Given the description of an element on the screen output the (x, y) to click on. 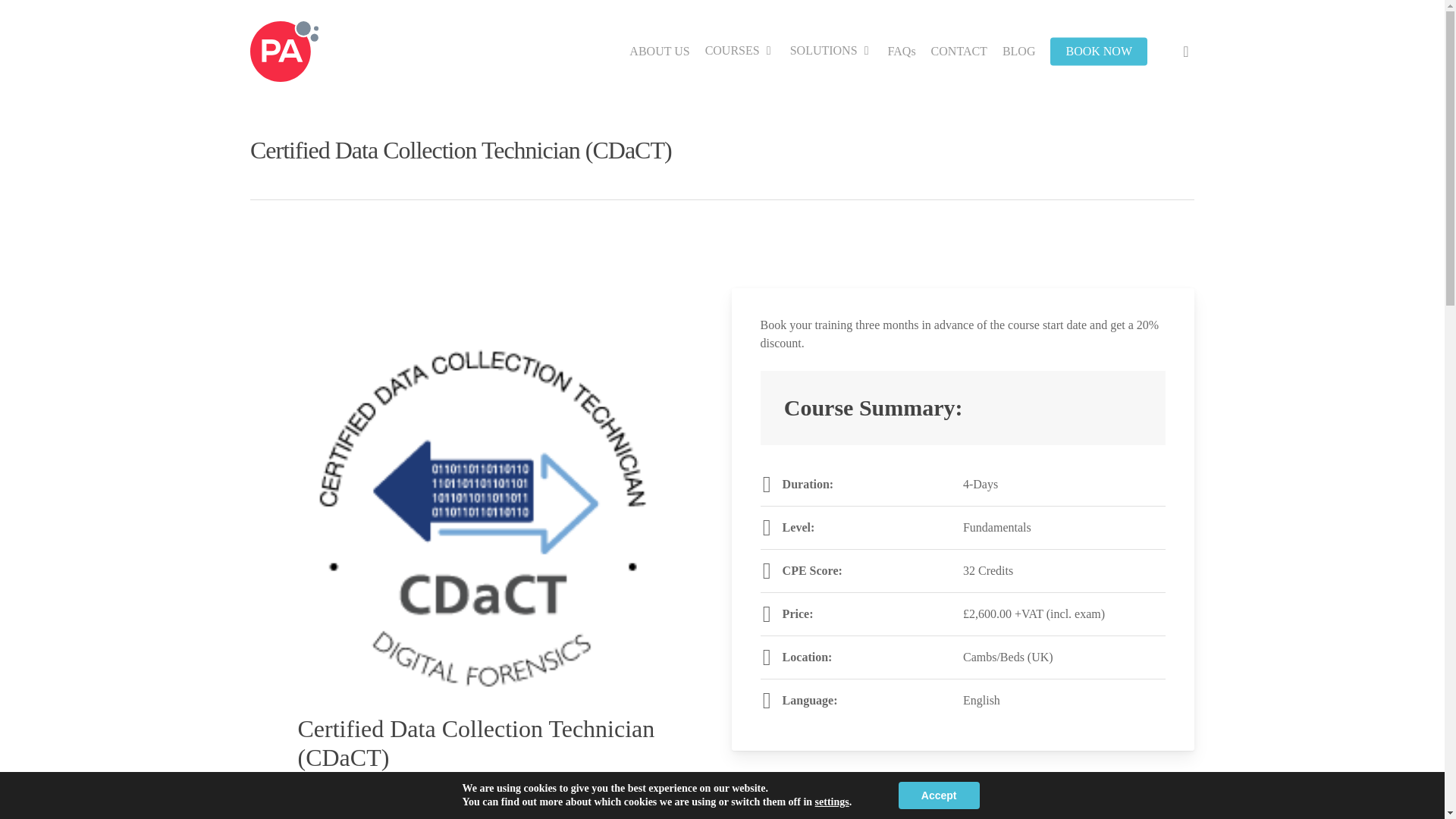
BLOG (1018, 51)
BOOK NOW (1098, 51)
SOLUTIONS (831, 51)
COURSES (740, 51)
ABOUT US (659, 51)
FAQs (901, 51)
CONTACT (958, 51)
